Given the description of an element on the screen output the (x, y) to click on. 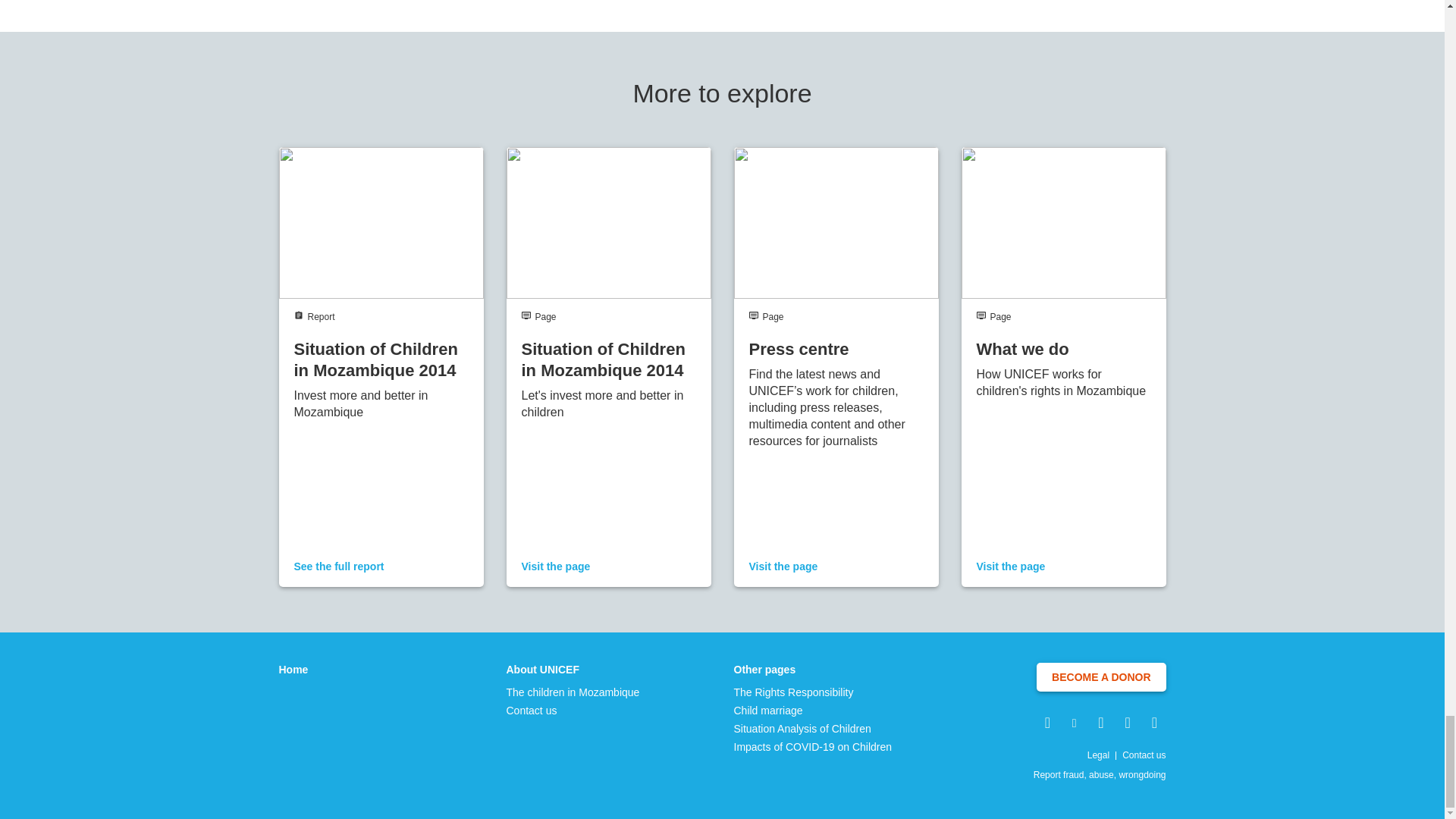
Impacts of COVID-19 on Children (812, 746)
Home (293, 669)
About UNICEF (573, 669)
BECOME A DONOR (1101, 676)
Child marriage (812, 710)
The Rights Responsibility (812, 692)
The children in Mozambique (573, 692)
Contact us (573, 710)
Home (293, 669)
About UNICEF (573, 669)
